Given the description of an element on the screen output the (x, y) to click on. 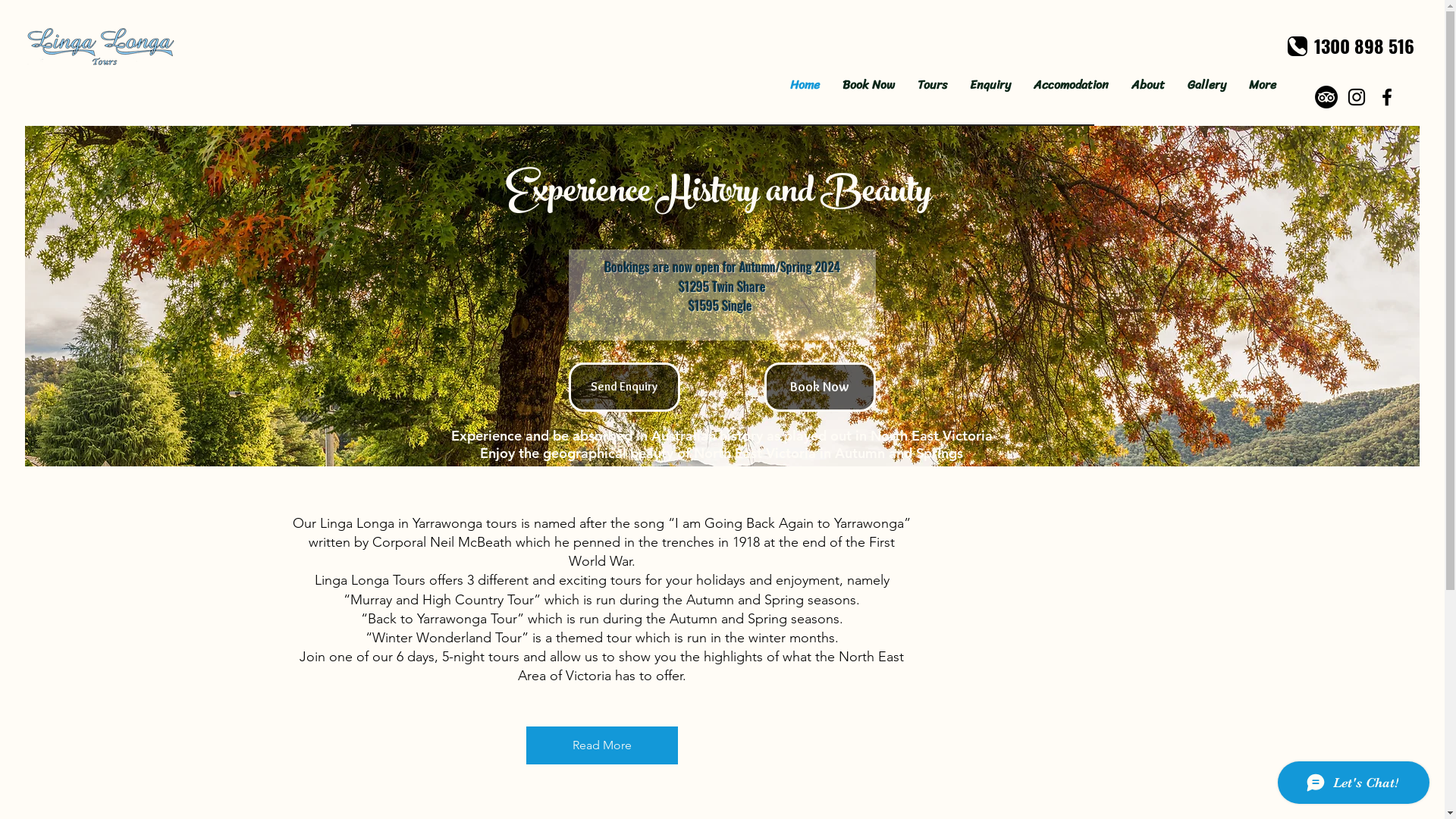
Enquiry Element type: text (990, 84)
1300 898 516 Element type: text (1364, 45)
Send Enquiry Element type: text (624, 386)
Accomodation Element type: text (1071, 84)
Home Element type: text (804, 84)
Gallery Element type: text (1206, 84)
linglong-tours_transparent-background.png Element type: hover (100, 46)
About Element type: text (1148, 84)
Book Now Element type: text (819, 386)
Read More Element type: text (601, 745)
Book Now Element type: text (868, 84)
